Given the description of an element on the screen output the (x, y) to click on. 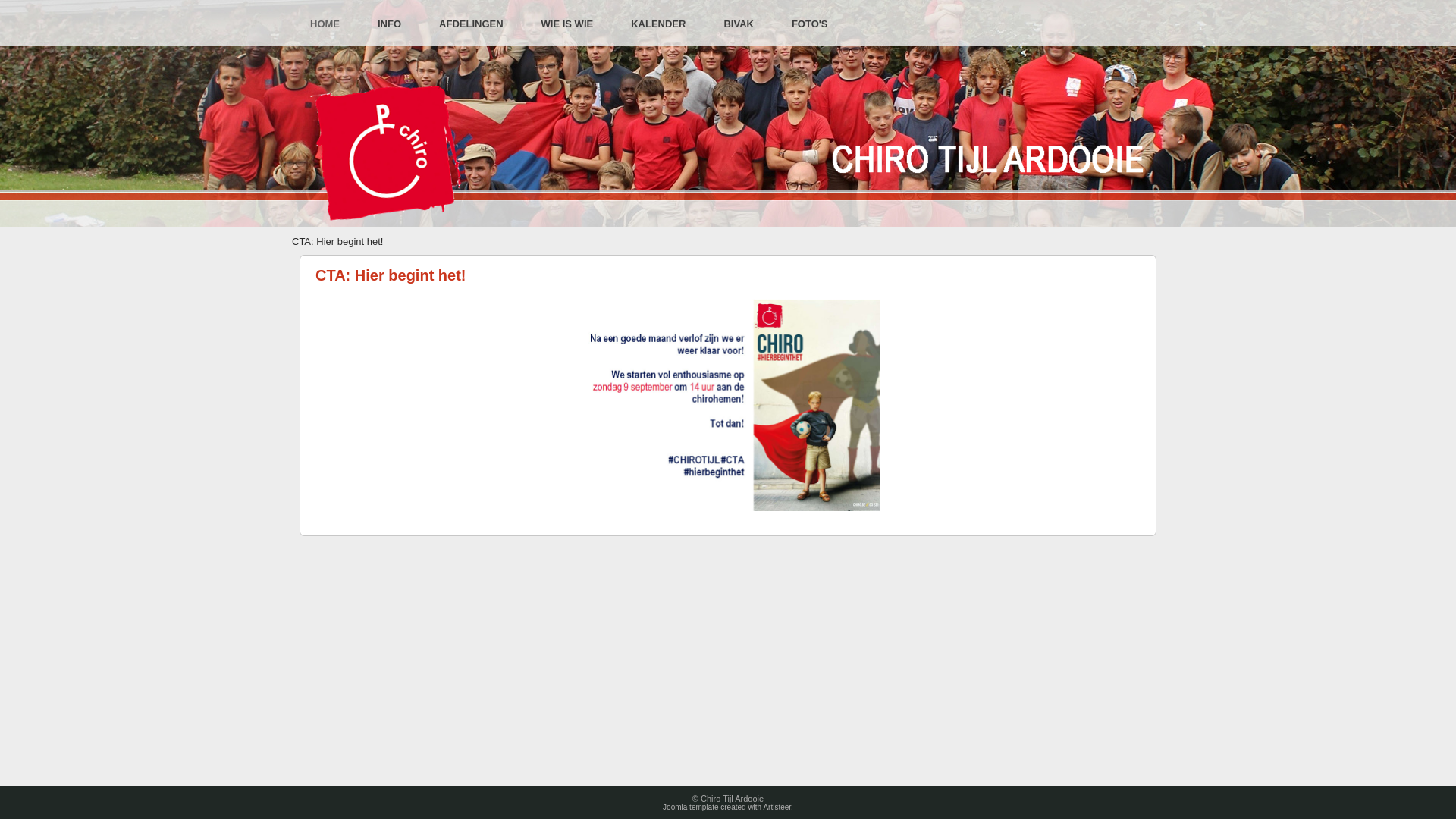
Joomla template Element type: text (690, 807)
WIE IS WIE Element type: text (567, 23)
CTA: Hier begint het! Element type: text (390, 274)
HOME Element type: text (324, 23)
FOTO'S Element type: text (809, 23)
AFDELINGEN Element type: text (471, 23)
INFO Element type: text (389, 23)
BIVAK Element type: text (737, 23)
KALENDER Element type: text (657, 23)
